Given the description of an element on the screen output the (x, y) to click on. 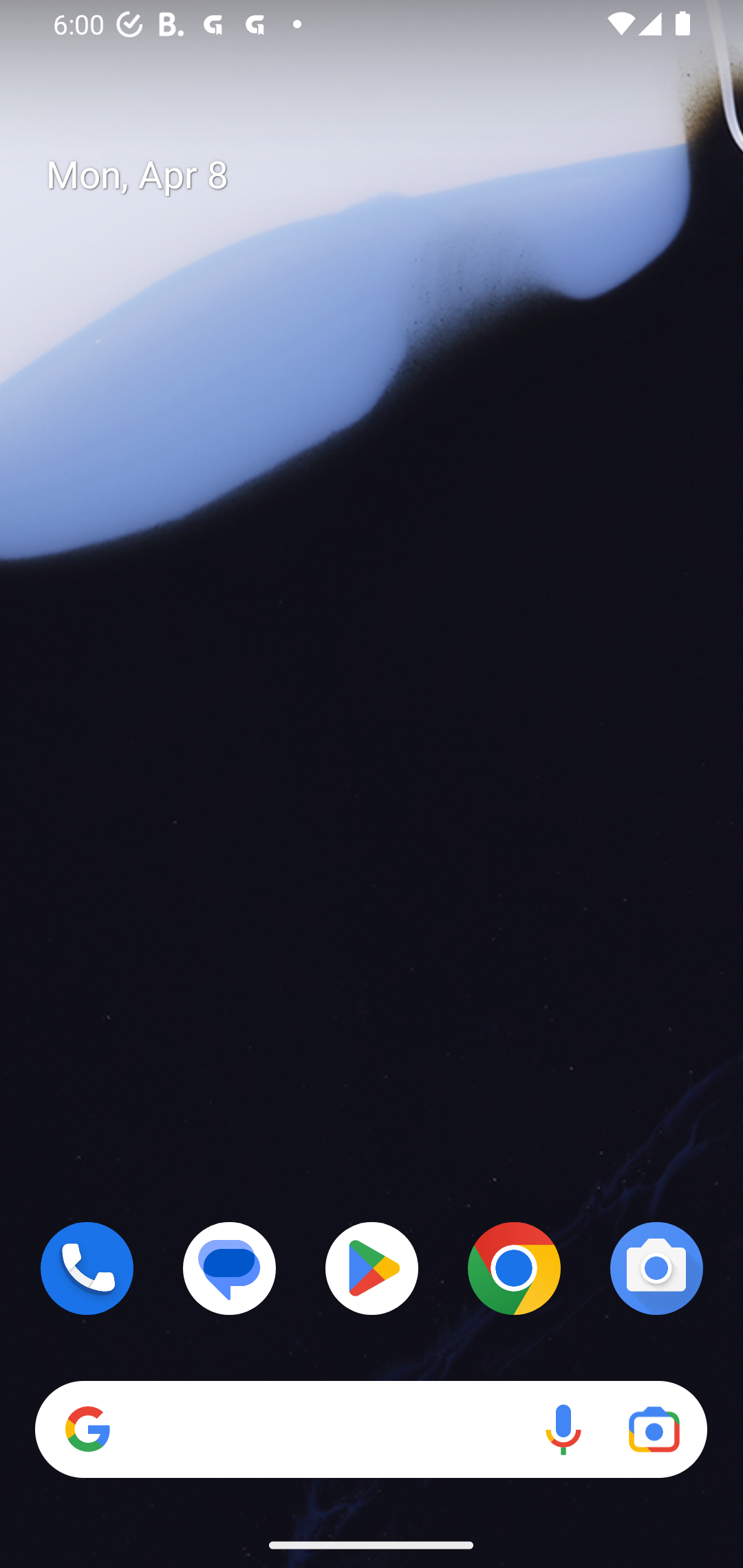
Mon, Apr 8 (386, 175)
Phone (86, 1268)
Messages (229, 1268)
Play Store (371, 1268)
Chrome (513, 1268)
Camera (656, 1268)
Search Voice search Google Lens (370, 1429)
Voice search (562, 1429)
Google Lens (653, 1429)
